Given the description of an element on the screen output the (x, y) to click on. 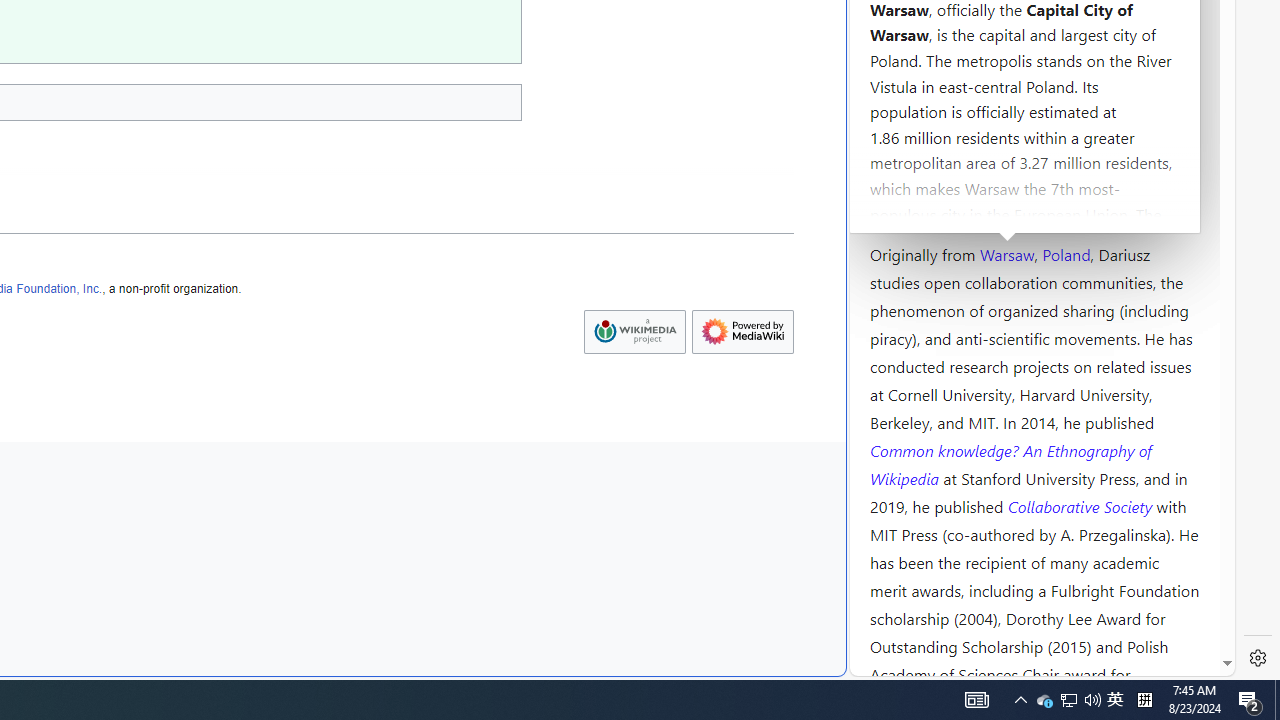
Harvard University (934, 205)
Wikimedia Foundation (634, 331)
Powered by MediaWiki (742, 331)
Kozminski University (1034, 136)
